Given the description of an element on the screen output the (x, y) to click on. 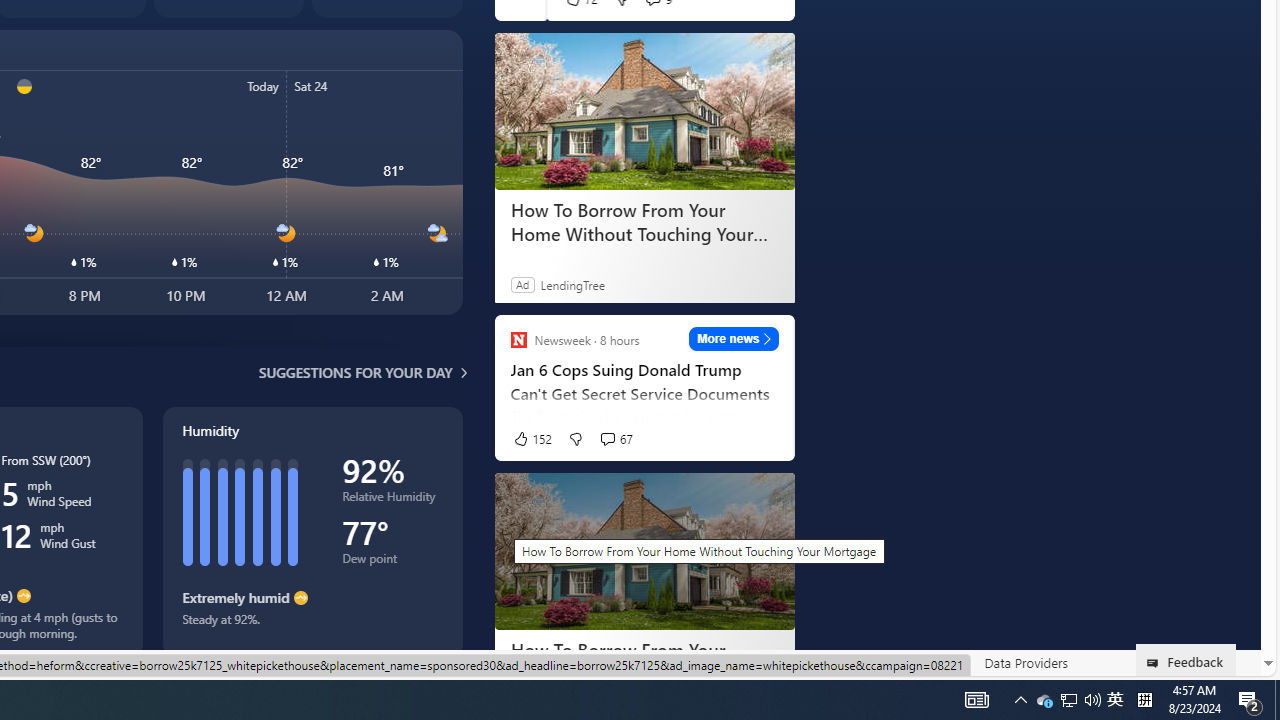
Privacy & Cookies (759, 663)
Your Privacy Choices (456, 662)
Suggestions for your day (355, 372)
Terms of use (861, 662)
Consumer Health Privacy (619, 663)
Class: feedback_link_icon-DS-EntryPoint1-1 (1156, 663)
Your Privacy Choices (456, 663)
How To Borrow From Your Home Without Touching Your Mortgage (644, 551)
More news (733, 338)
